Given the description of an element on the screen output the (x, y) to click on. 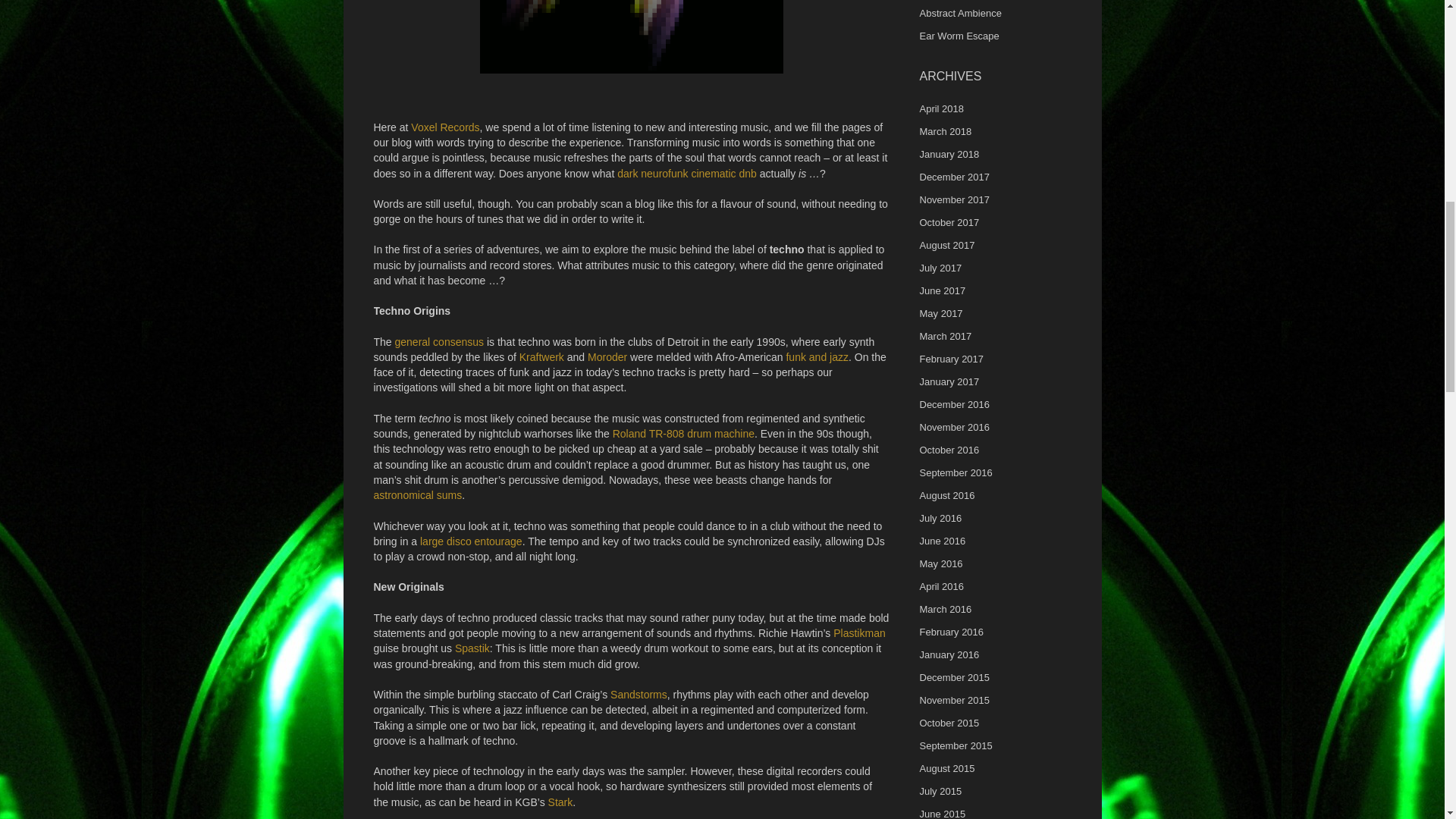
Techno Music Mind (631, 37)
dark neurofunk cinematic dnb (687, 173)
general consensus (439, 341)
Voxel Records (444, 127)
